Given the description of an element on the screen output the (x, y) to click on. 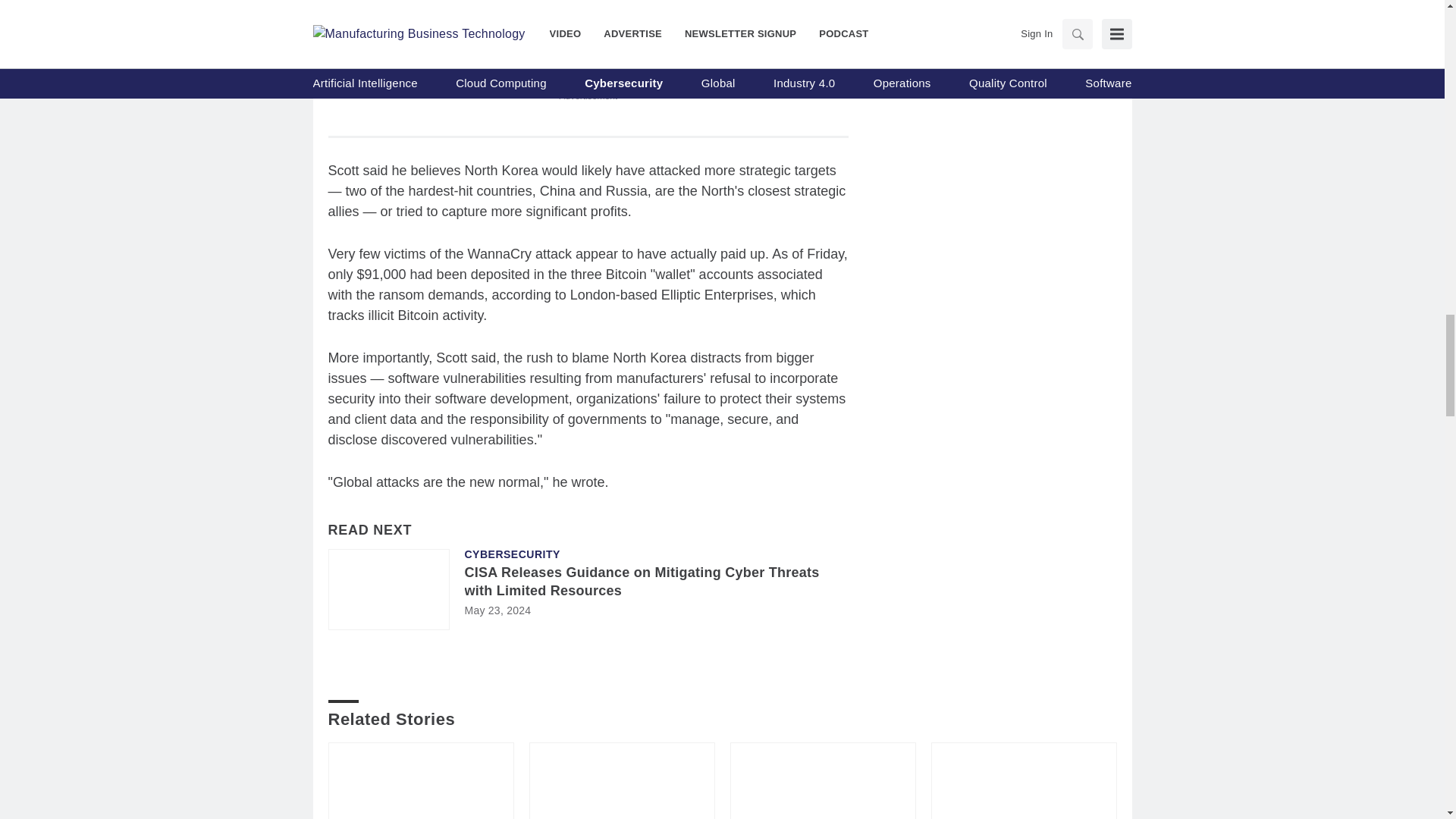
Cybersecurity (511, 553)
